Given the description of an element on the screen output the (x, y) to click on. 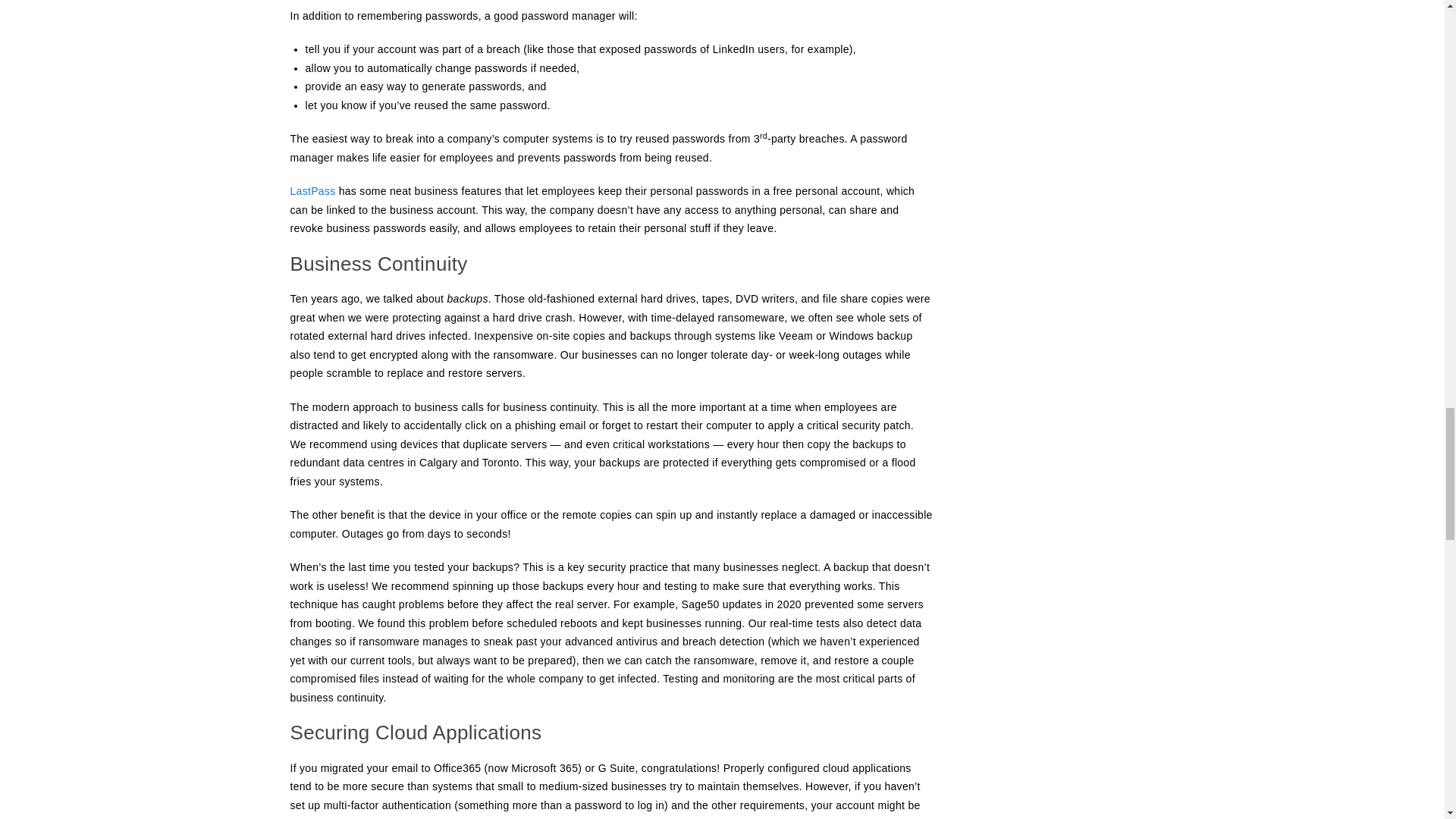
LastPass (311, 191)
